Given the description of an element on the screen output the (x, y) to click on. 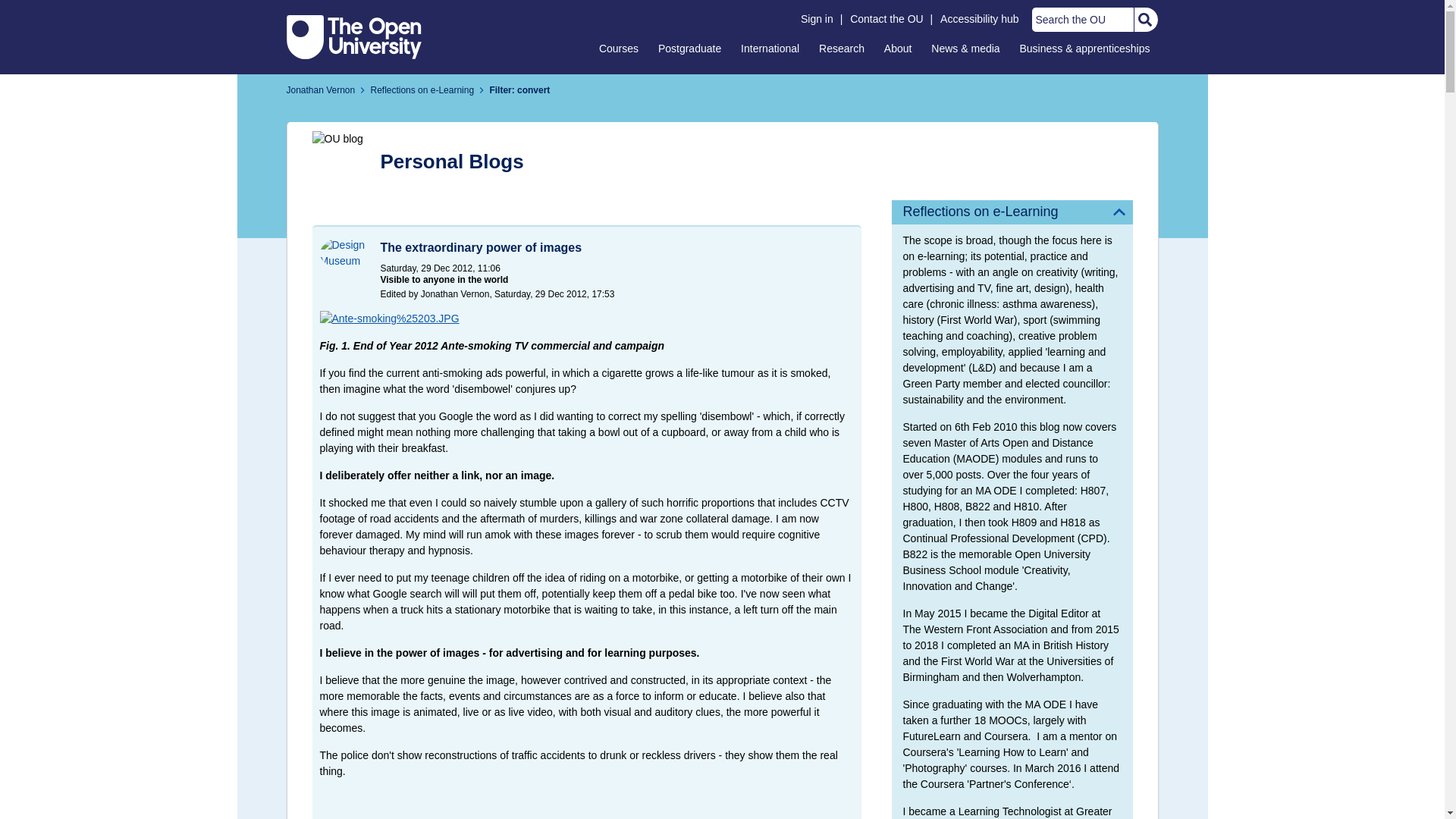
Reflections on e-Learning (421, 90)
Courses (618, 48)
Accessibility hub (979, 19)
International (770, 48)
Jonathan Vernon (320, 90)
Postgraduate (689, 48)
Search (1144, 19)
About (898, 48)
Reflections on e-Learning (1011, 211)
Contact the OU (886, 19)
The Open University (354, 36)
Search (1144, 19)
Sign in (816, 19)
